Given the description of an element on the screen output the (x, y) to click on. 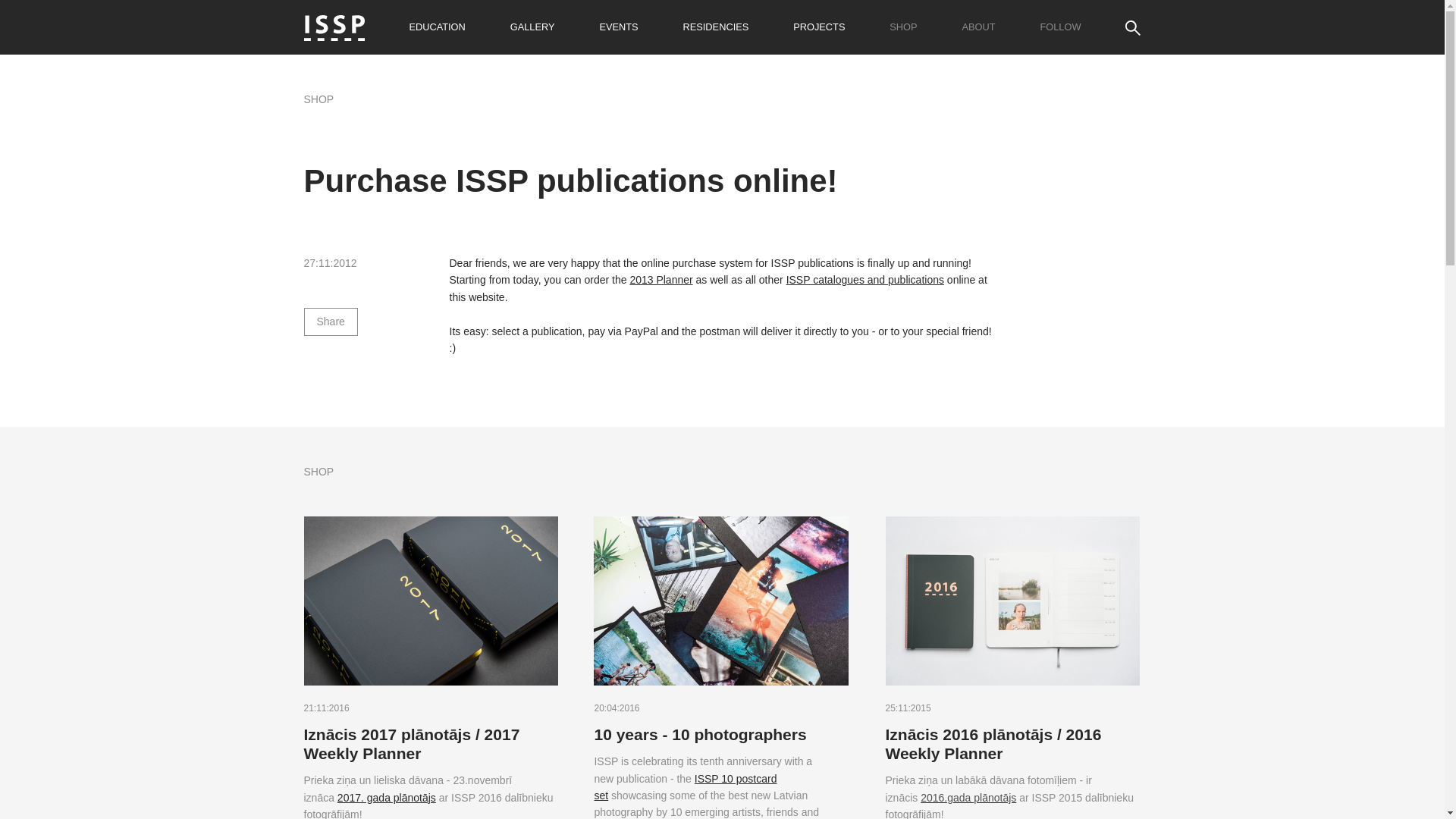
RESIDENCIES (715, 27)
PROJECTS (818, 27)
EDUCATION (436, 27)
